Given the description of an element on the screen output the (x, y) to click on. 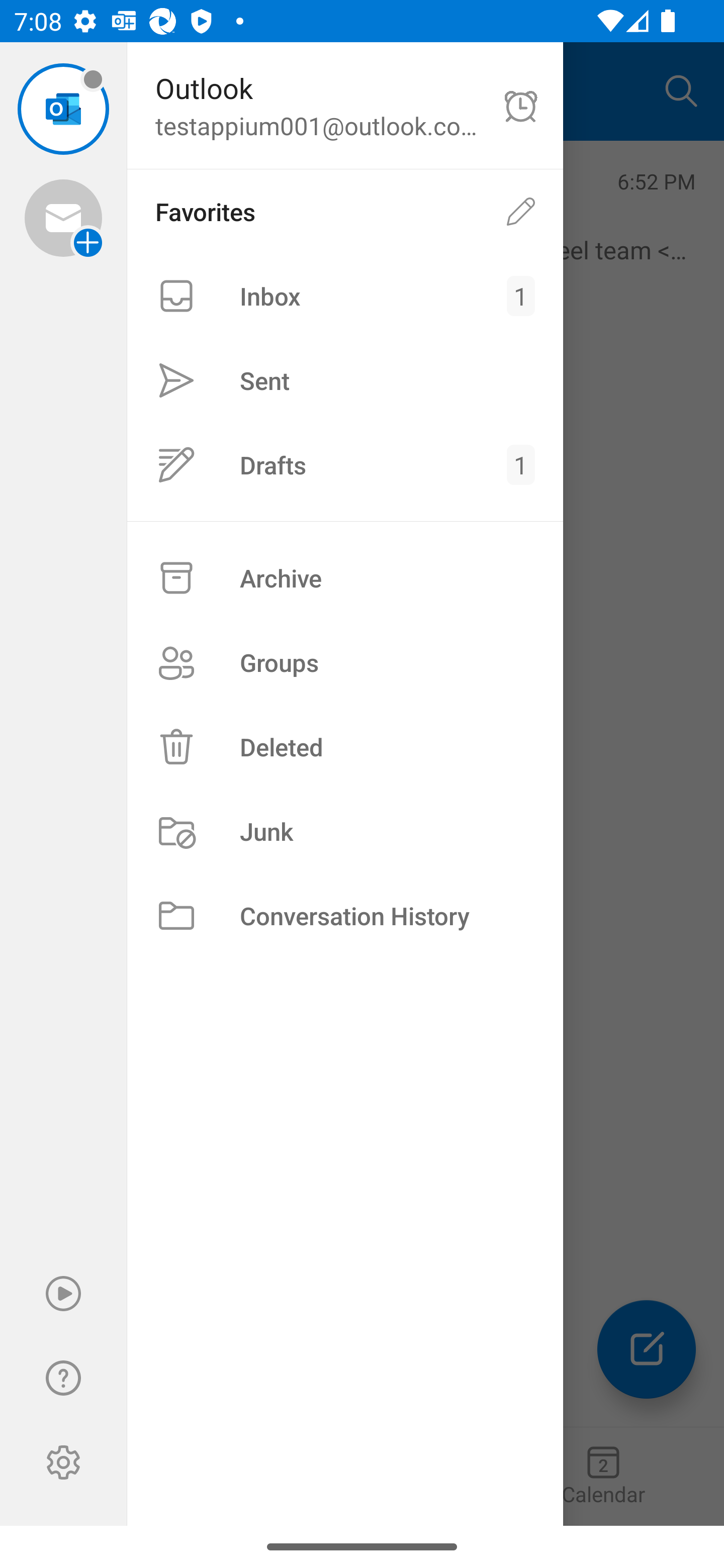
Do not disturb off (520, 105)
testappium001@outlook.com (63, 108)
Edit favorites (520, 211)
Add account (63, 217)
Inbox 1 1 unread email (345, 296)
Sent (345, 380)
Drafts 1 1 unread email (345, 464)
Archive (345, 578)
Groups (345, 662)
Deleted (345, 746)
Junk (345, 830)
Conversation History (345, 915)
Play My Emails (62, 1293)
Help (62, 1377)
Settings (62, 1462)
